Given the description of an element on the screen output the (x, y) to click on. 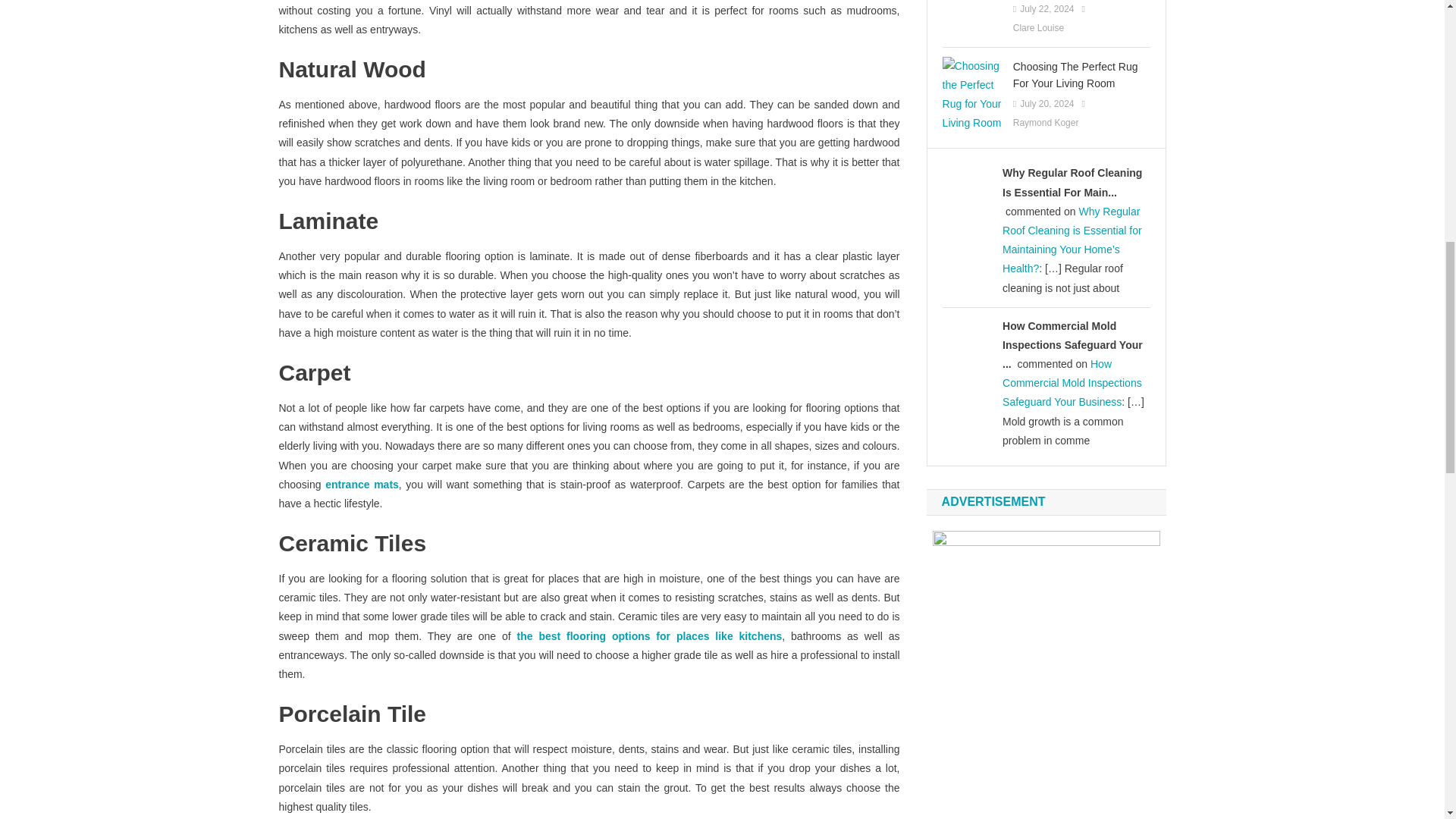
How Commercial Mold Inspections Safeguard Your Business (1072, 382)
entrance mats (361, 484)
the best flooring options for places like kitchens (649, 635)
